Given the description of an element on the screen output the (x, y) to click on. 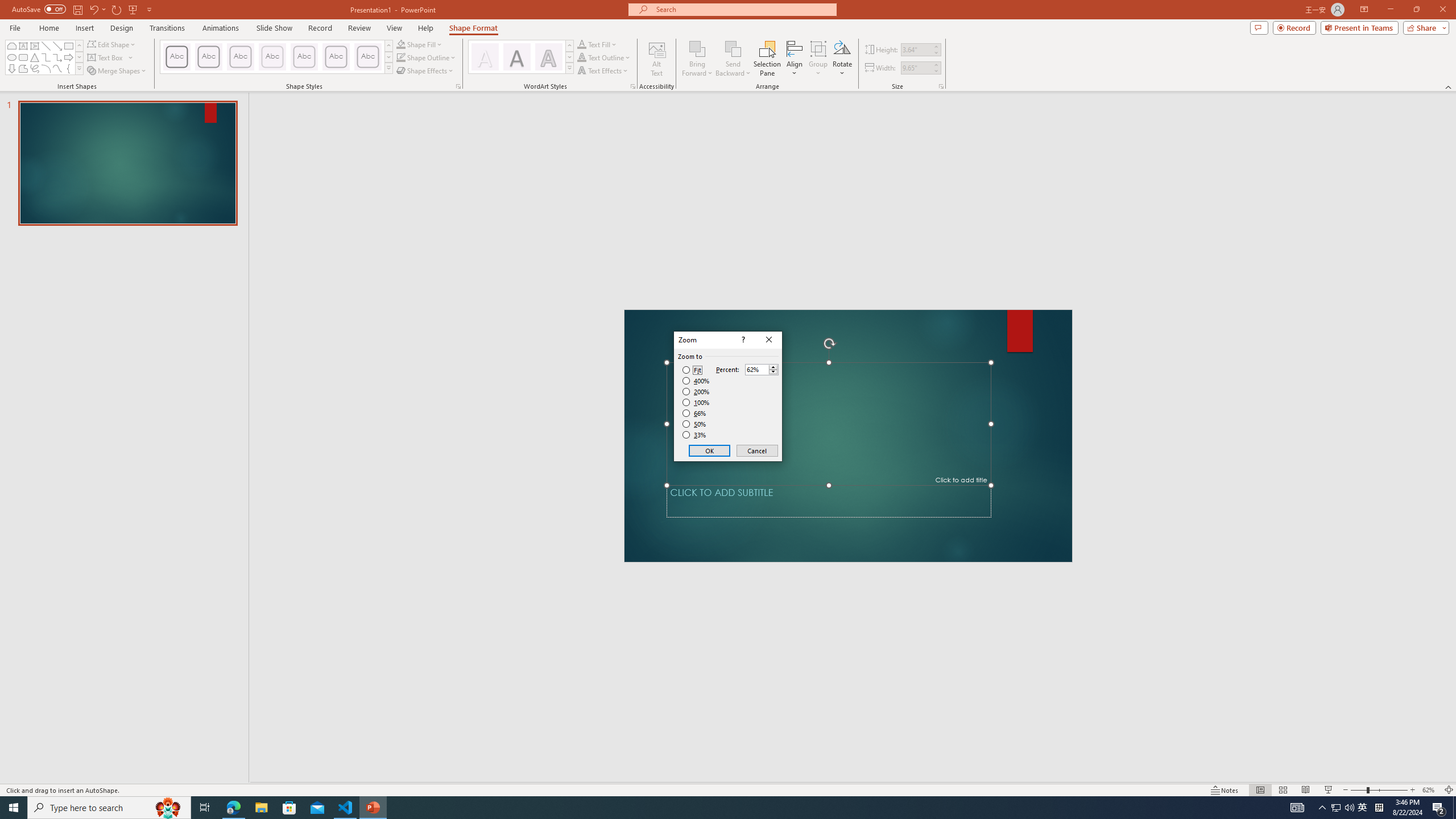
Bring Forward (697, 58)
Rectangle: Top Corners Snipped (11, 45)
AutomationID: ShapeStylesGallery (276, 56)
